Given the description of an element on the screen output the (x, y) to click on. 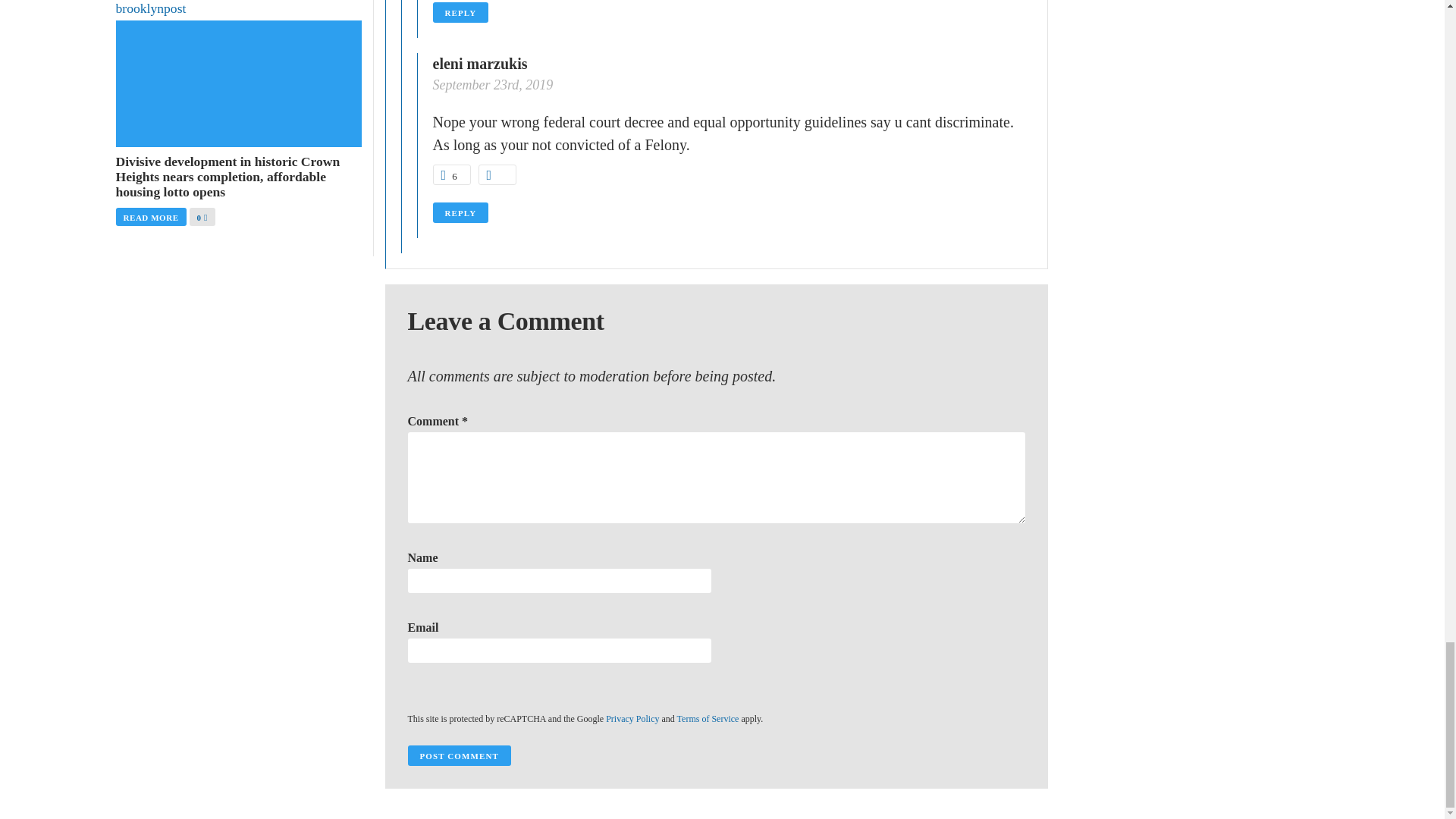
Post Comment (459, 755)
